Given the description of an element on the screen output the (x, y) to click on. 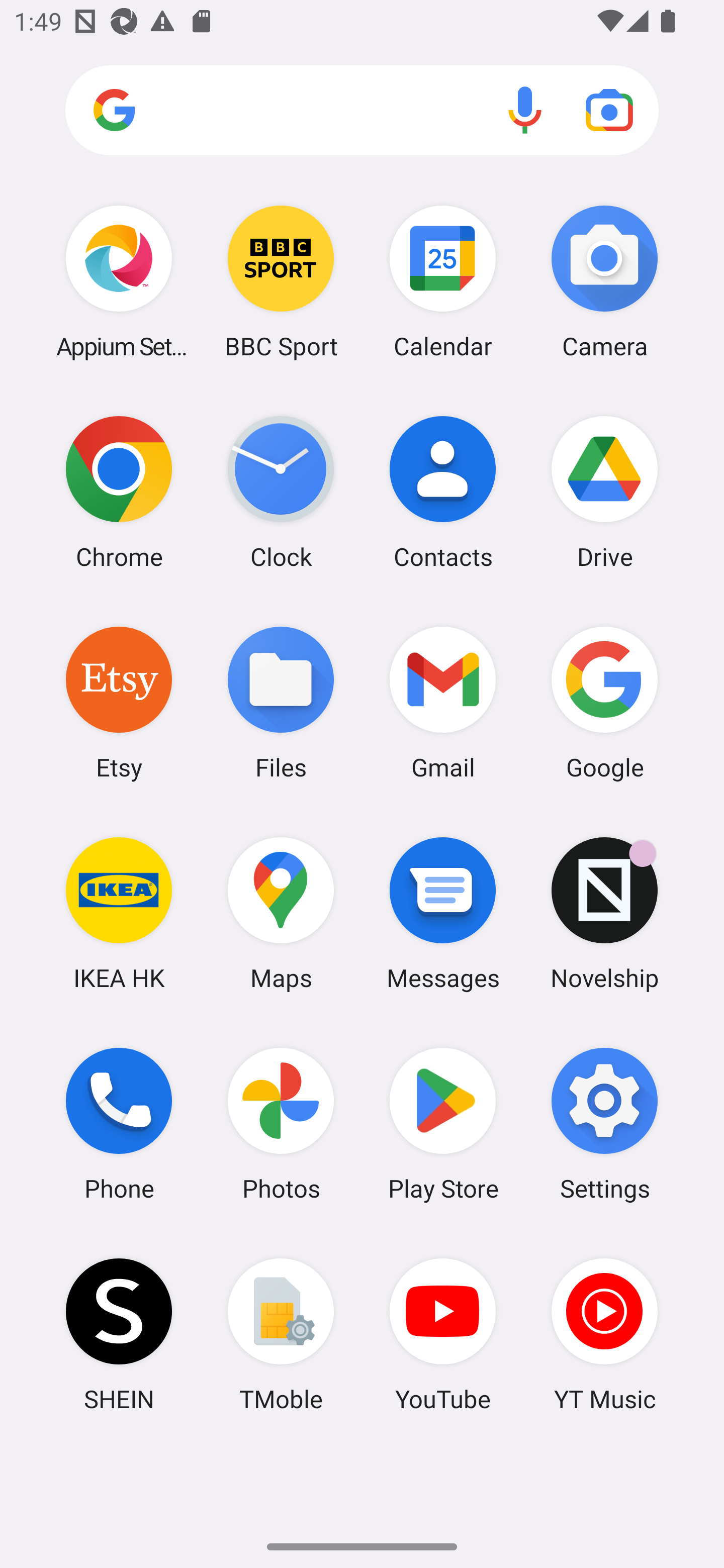
Search apps, web and more (361, 110)
Voice search (524, 109)
Google Lens (608, 109)
Appium Settings (118, 281)
BBC Sport (280, 281)
Calendar (443, 281)
Camera (604, 281)
Chrome (118, 492)
Clock (280, 492)
Contacts (443, 492)
Drive (604, 492)
Etsy (118, 702)
Files (280, 702)
Gmail (443, 702)
Google (604, 702)
IKEA HK (118, 913)
Maps (280, 913)
Messages (443, 913)
Novelship Novelship has 8 notifications (604, 913)
Phone (118, 1124)
Photos (280, 1124)
Play Store (443, 1124)
Settings (604, 1124)
SHEIN (118, 1334)
TMoble (280, 1334)
YouTube (443, 1334)
YT Music (604, 1334)
